Given the description of an element on the screen output the (x, y) to click on. 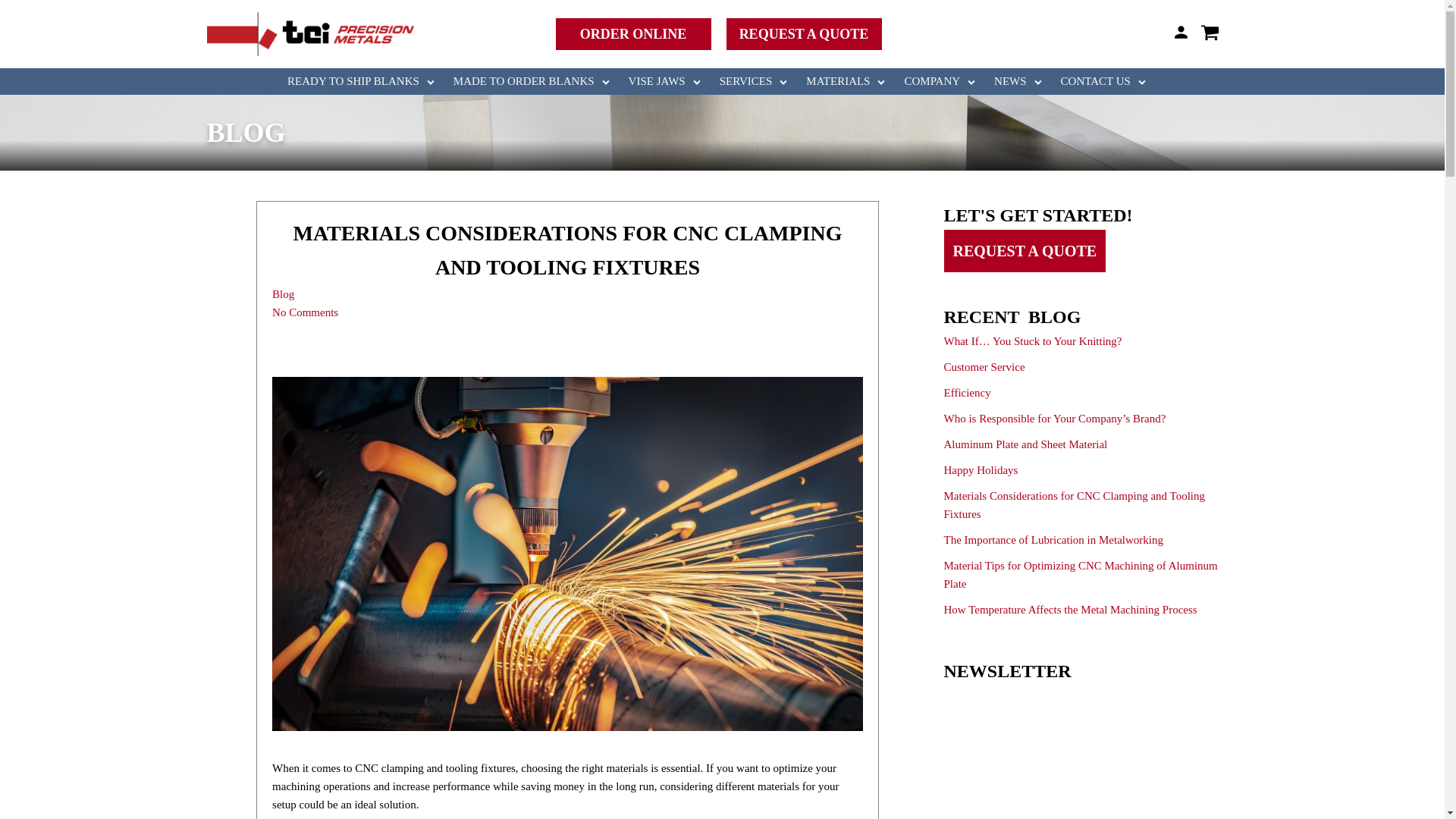
Go to Cart (1218, 34)
REQUEST A QUOTE (804, 34)
ORDER ONLINE (632, 34)
